Given the description of an element on the screen output the (x, y) to click on. 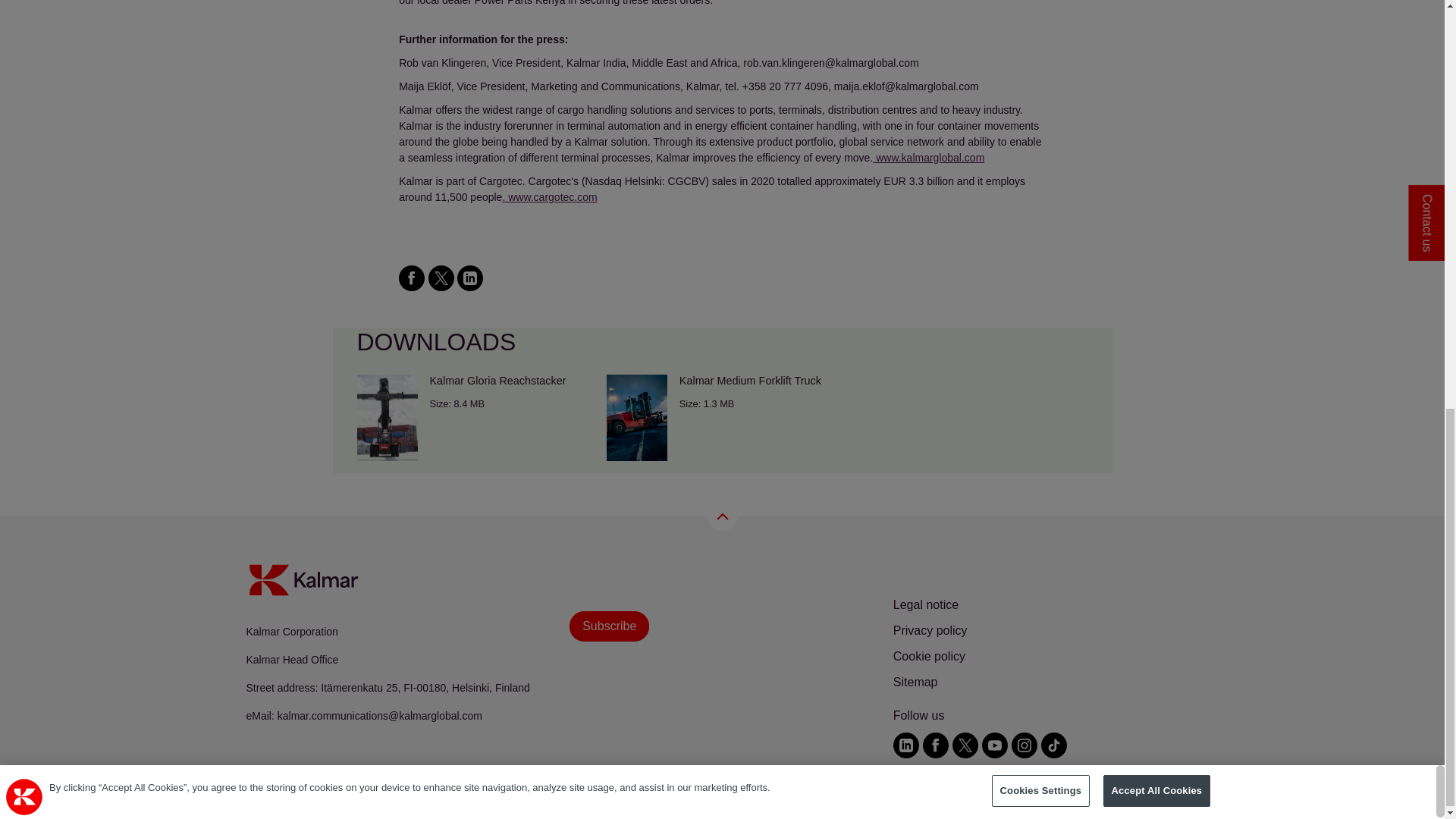
Kalmar Gloria Reachstacker (472, 417)
Company Logo (24, 1)
Kalmar Medium Forklift Truck (722, 417)
. www.cargotec.com (549, 196)
www.kalmarglobal.com (928, 157)
Kalmar logo (302, 580)
